Given the description of an element on the screen output the (x, y) to click on. 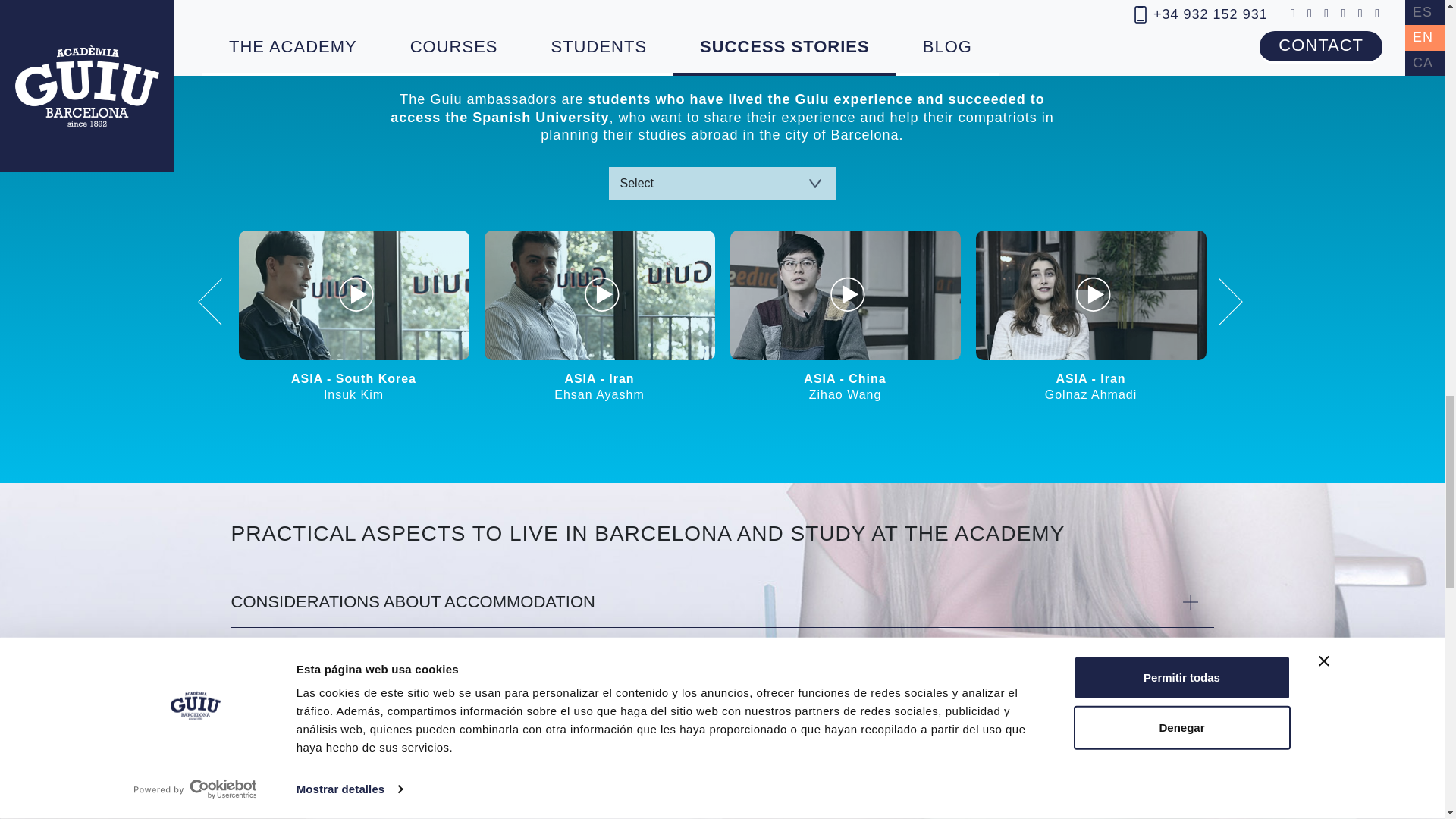
WATCH VIDEO (353, 295)
WATCH VIDEO (844, 295)
WATCH VIDEO (1090, 295)
WATCH VIDEO (598, 295)
